Given the description of an element on the screen output the (x, y) to click on. 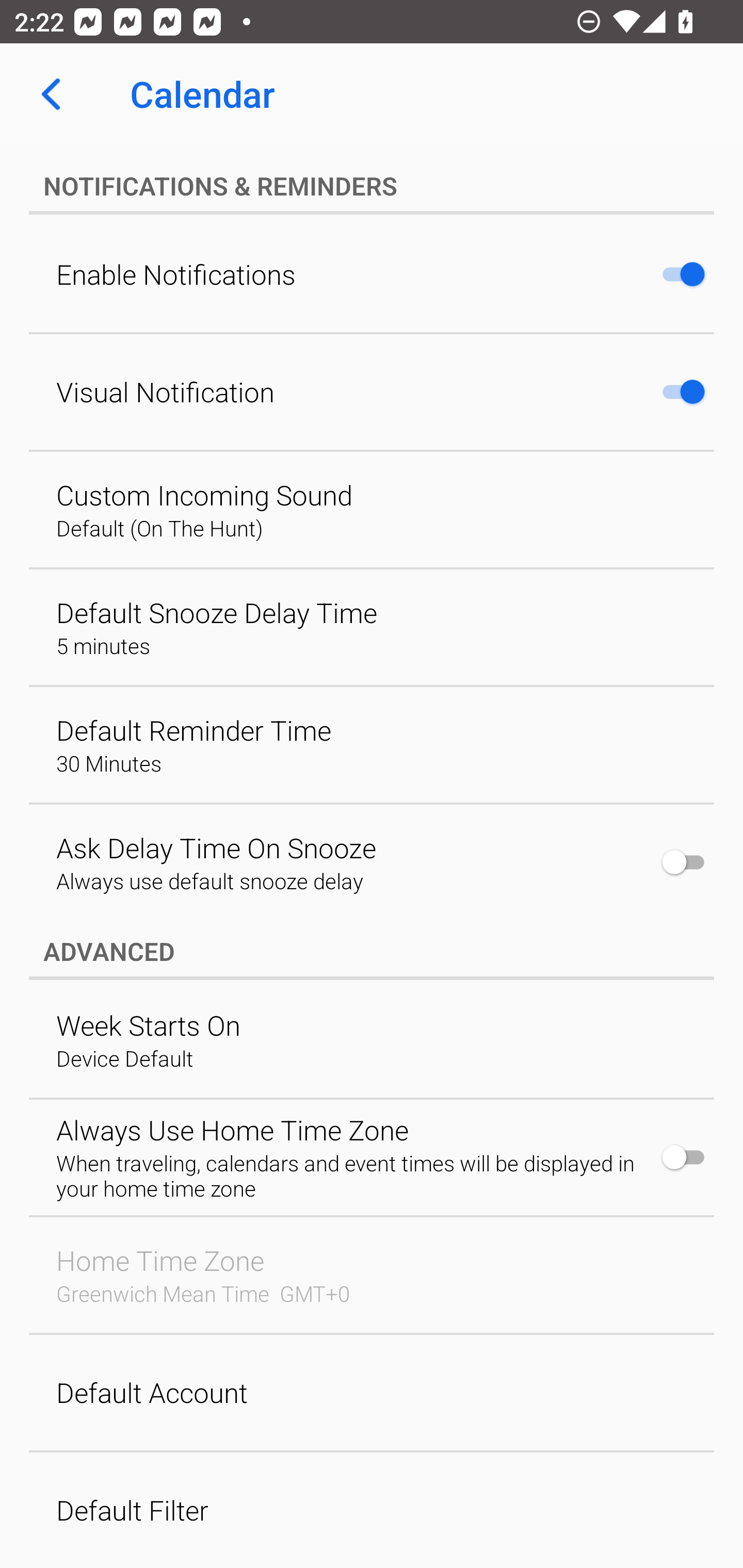
Navigate up (50, 93)
Enable Notifications (371, 274)
Visual Notification (371, 391)
Custom Incoming Sound Default (On The Hunt) (371, 509)
Default Snooze Delay Time 5 minutes (371, 627)
Default Reminder Time 30 Minutes (371, 744)
Week Starts On Device Default (371, 1039)
Home Time Zone Greenwich Mean Time  GMT+0 (371, 1274)
Default Account (371, 1392)
Default Filter (371, 1509)
